Given the description of an element on the screen output the (x, y) to click on. 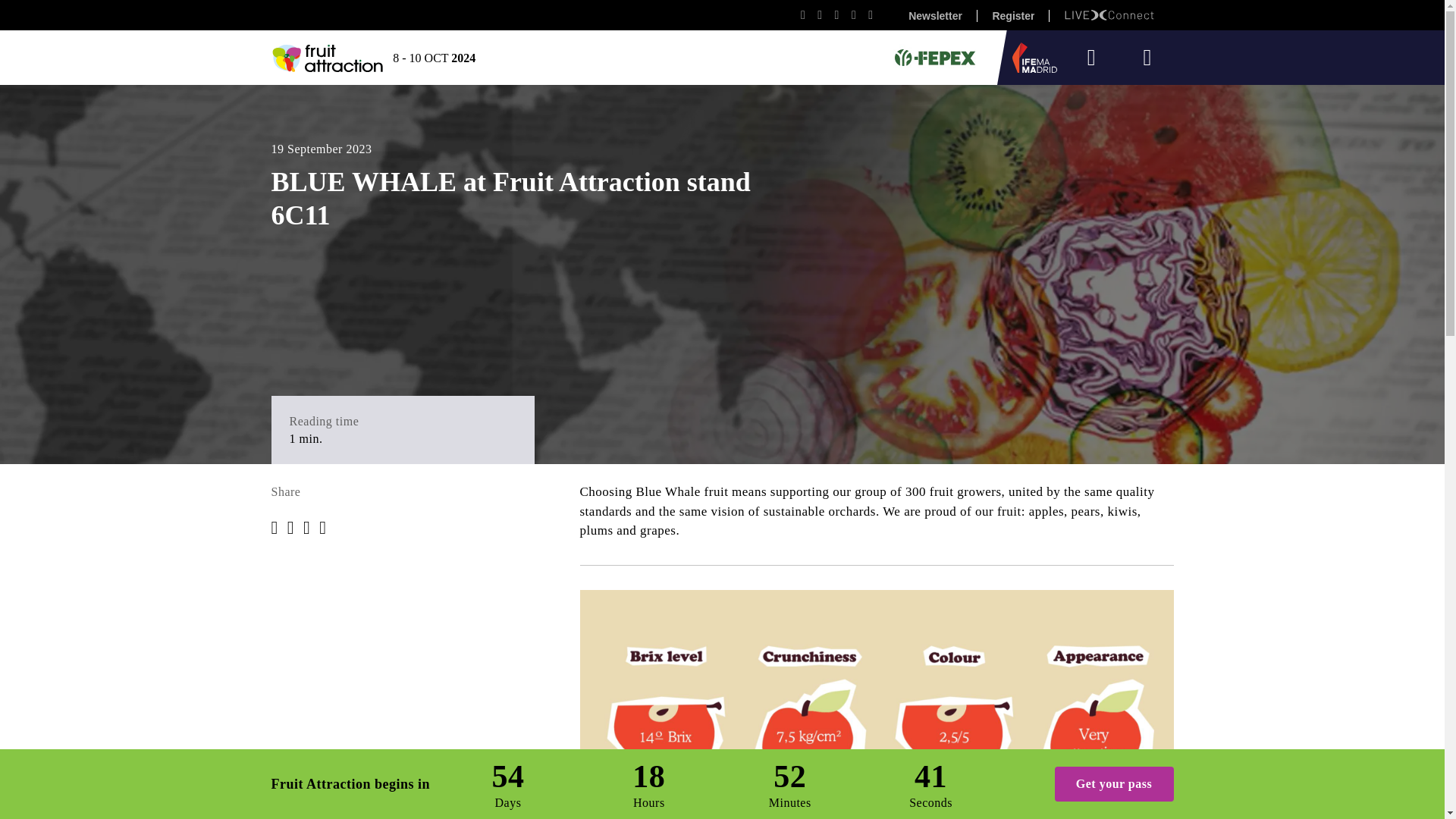
Newsletter (934, 14)
Register (1012, 14)
Open in a new window (1111, 14)
